Given the description of an element on the screen output the (x, y) to click on. 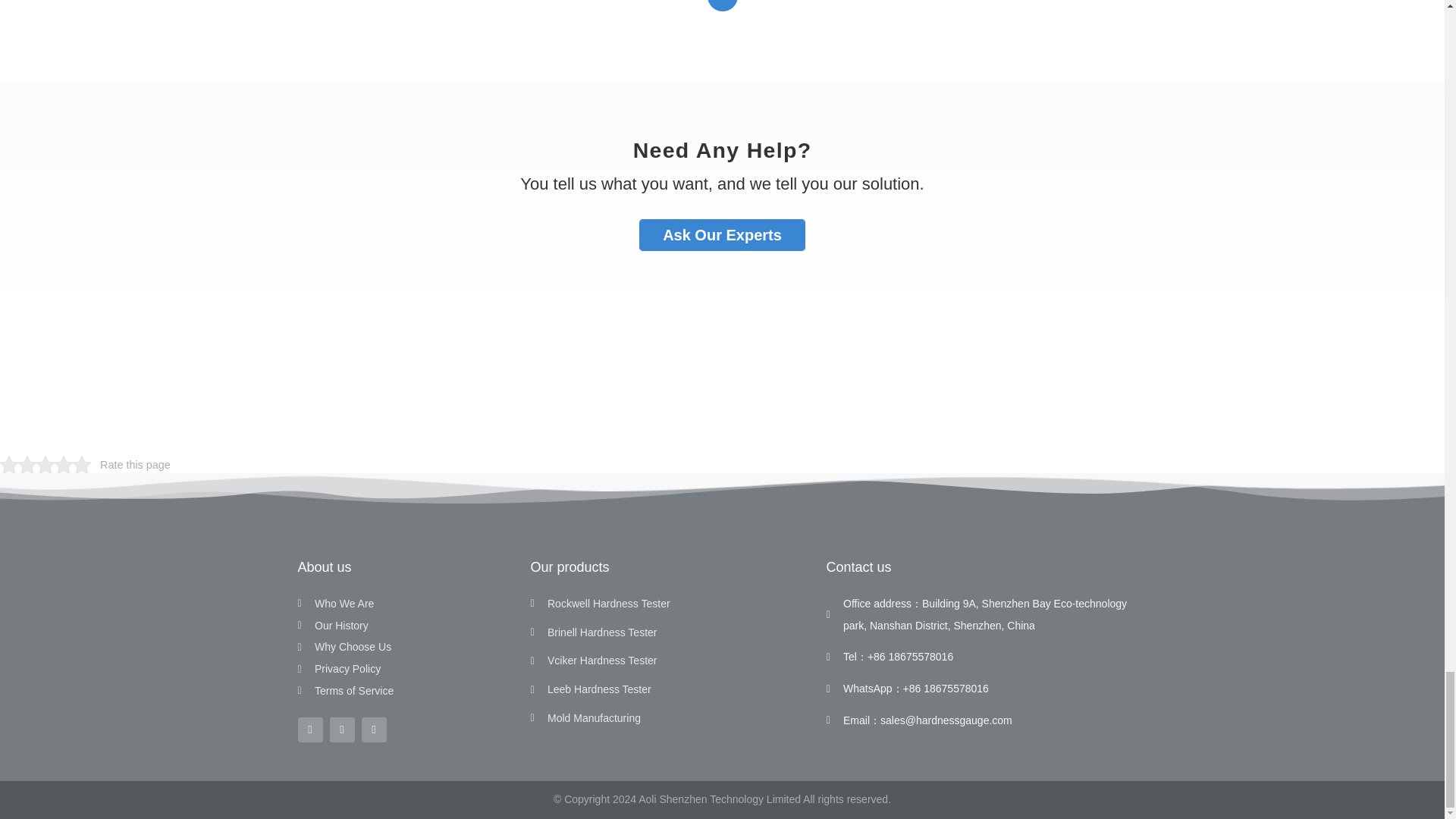
Ask Our Experts (722, 234)
